Given the description of an element on the screen output the (x, y) to click on. 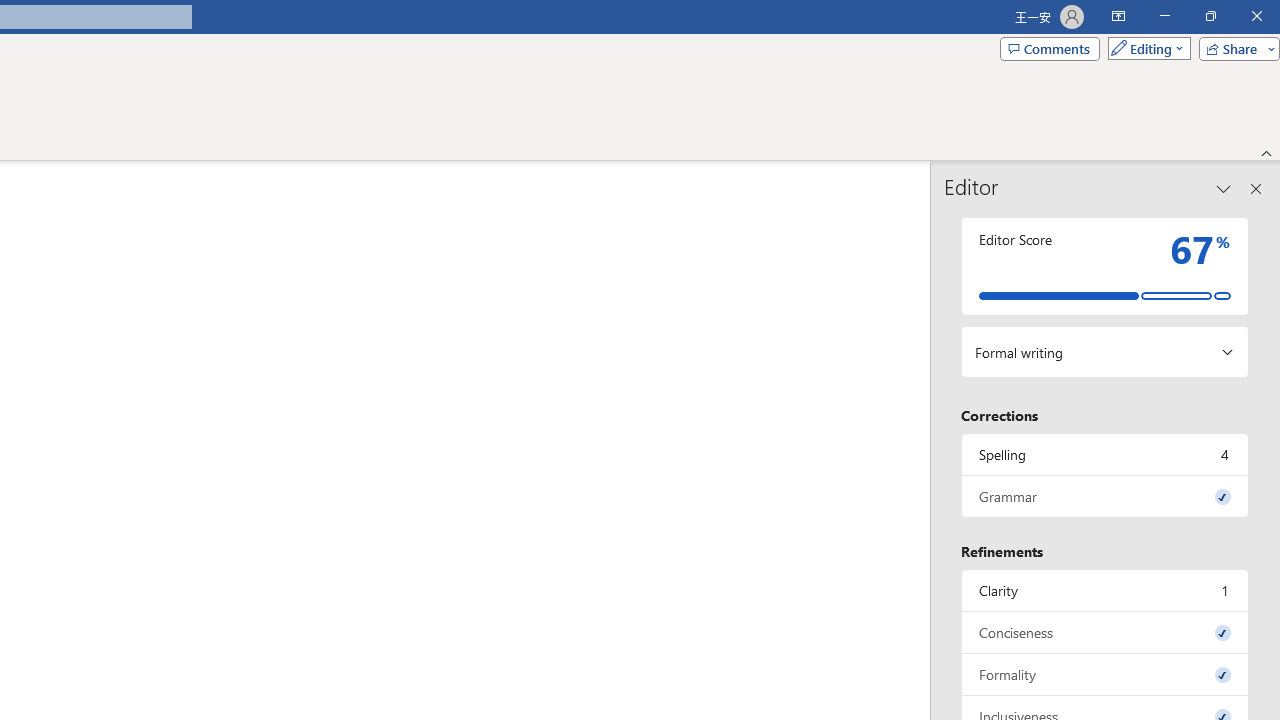
Editor Score 67% (1105, 266)
Formality, 0 issues. Press space or enter to review items. (1105, 673)
Conciseness, 0 issues. Press space or enter to review items. (1105, 632)
Grammar, 0 issues. Press space or enter to review items. (1105, 495)
Clarity, 1 issue. Press space or enter to review items. (1105, 590)
Spelling, 4 issues. Press space or enter to review items. (1105, 454)
